Given the description of an element on the screen output the (x, y) to click on. 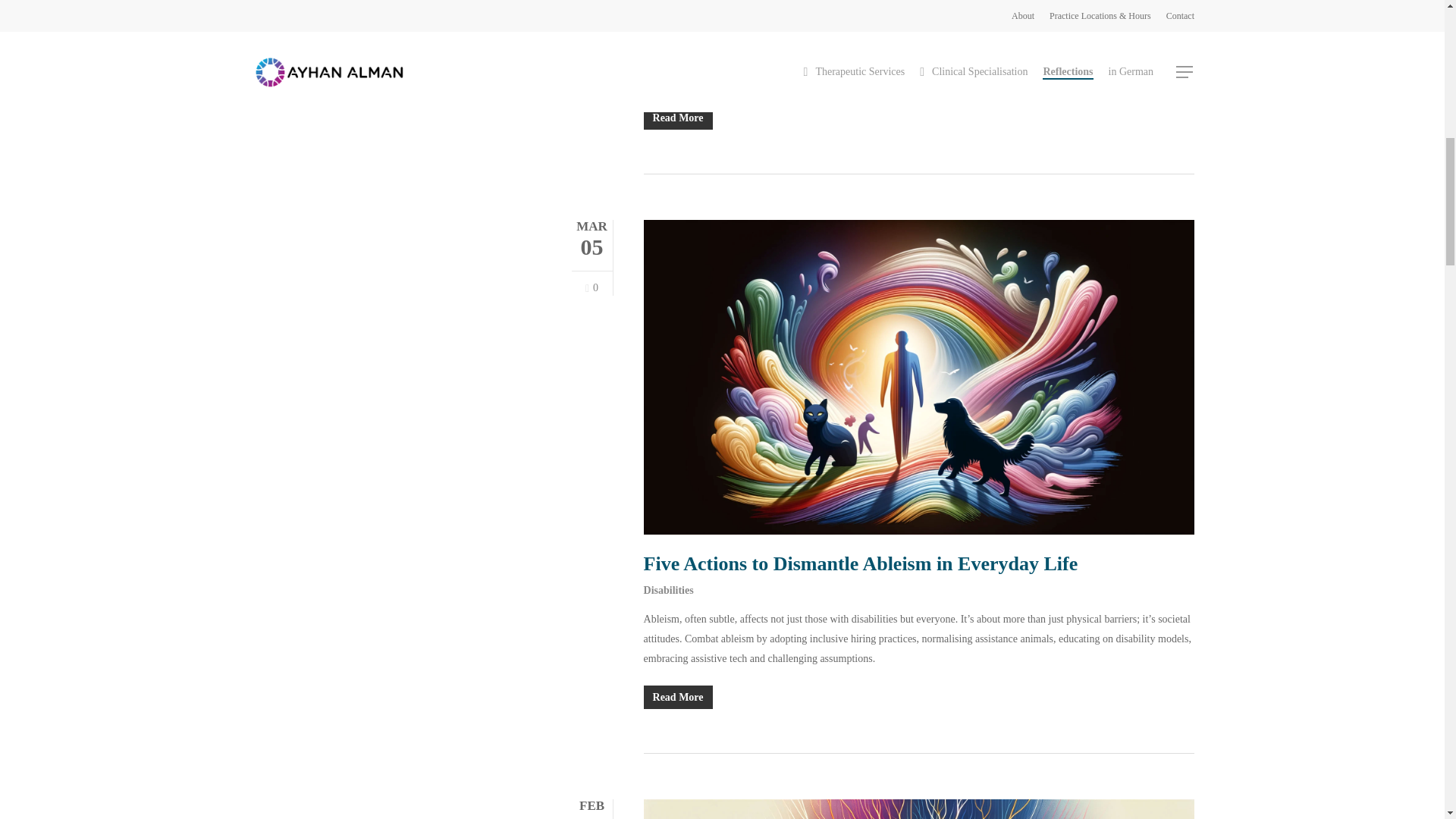
0 (591, 288)
Love this (591, 288)
Read More (918, 117)
EMDR (660, 10)
